Given the description of an element on the screen output the (x, y) to click on. 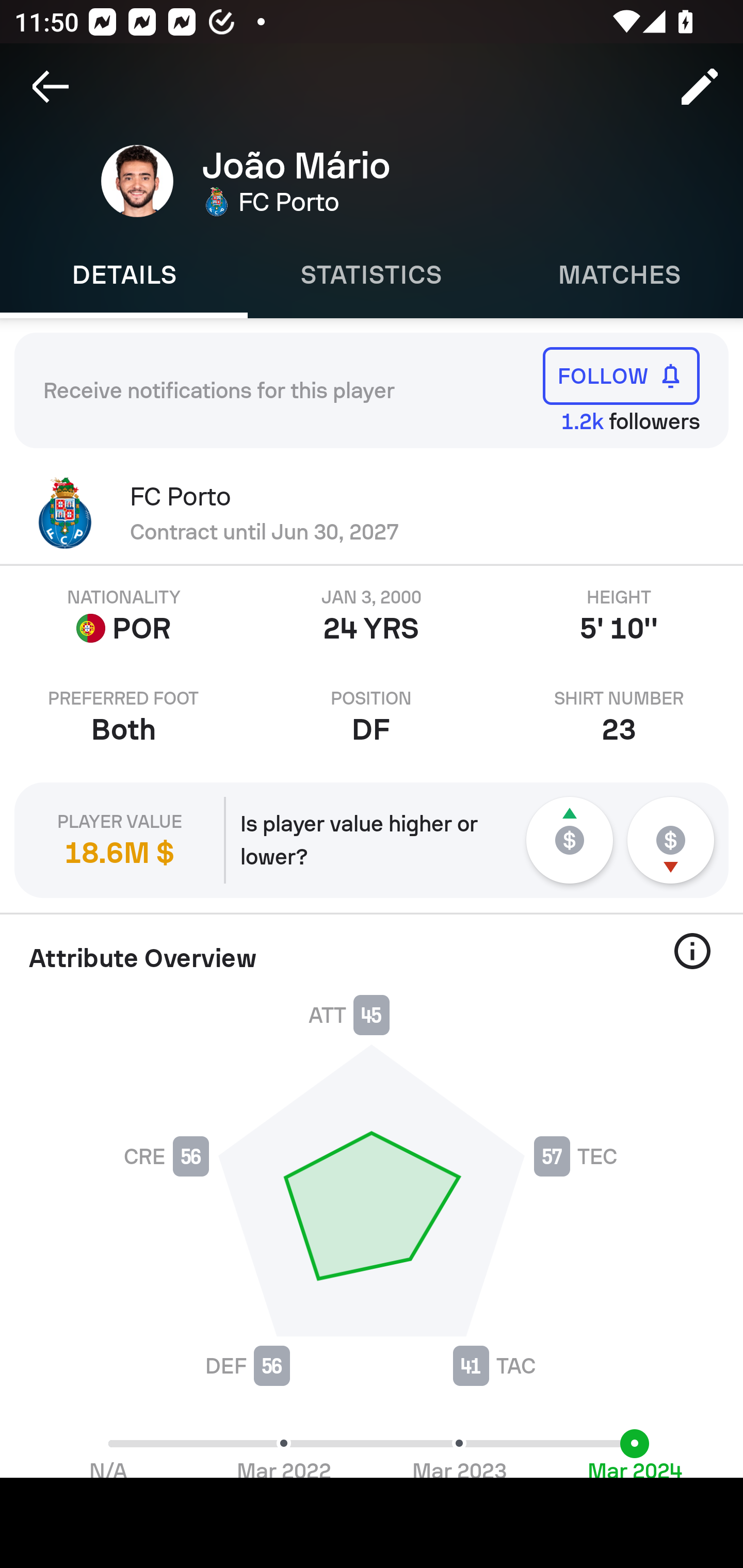
Navigate up (50, 86)
Edit (699, 86)
Statistics STATISTICS (371, 275)
Matches MATCHES (619, 275)
FOLLOW (621, 375)
FC Porto Contract until Jun 30, 2027 (371, 513)
NATIONALITY POR (123, 616)
POSITION DF (371, 717)
